Given the description of an element on the screen output the (x, y) to click on. 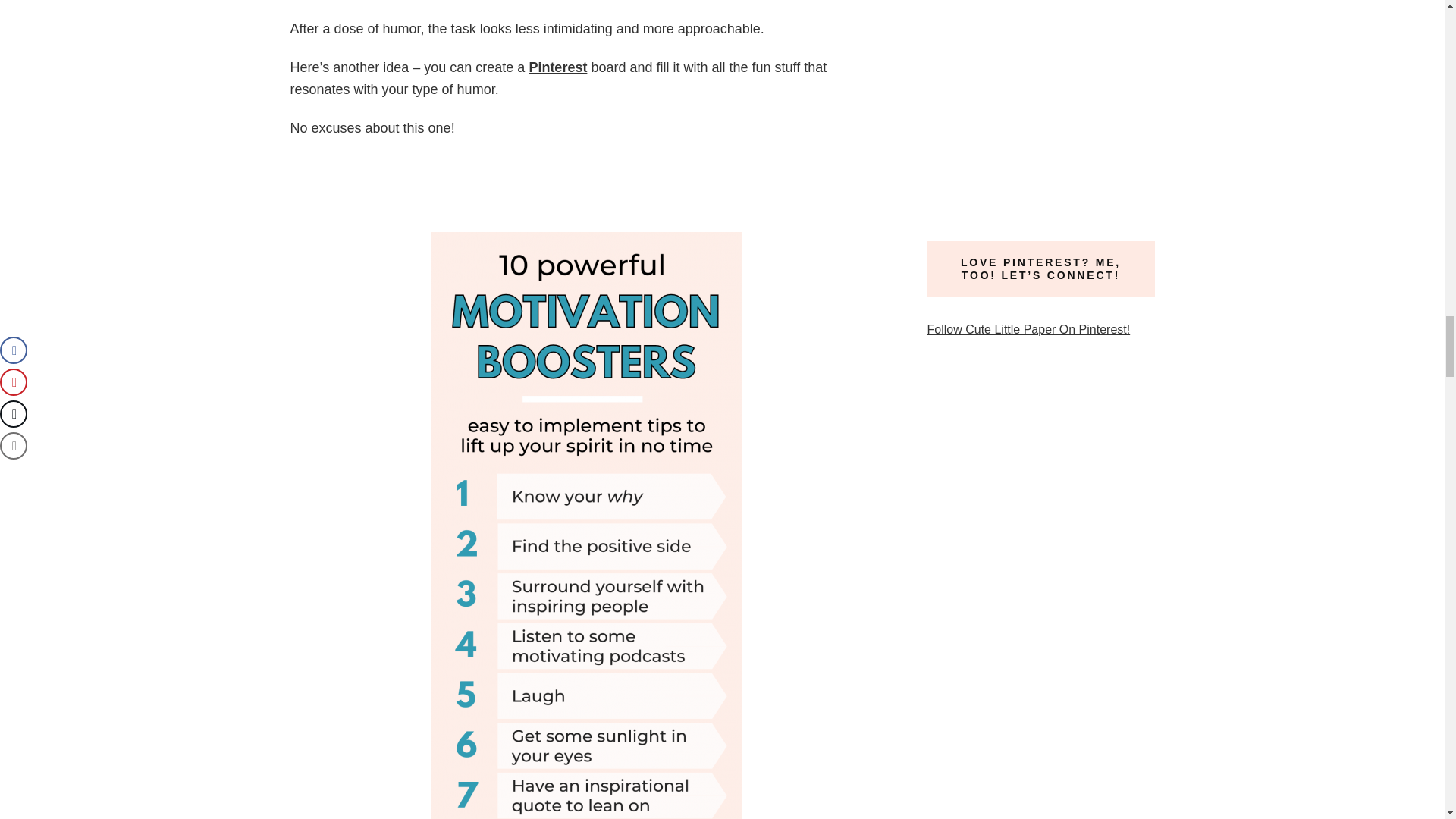
Pinterest (557, 67)
